Given the description of an element on the screen output the (x, y) to click on. 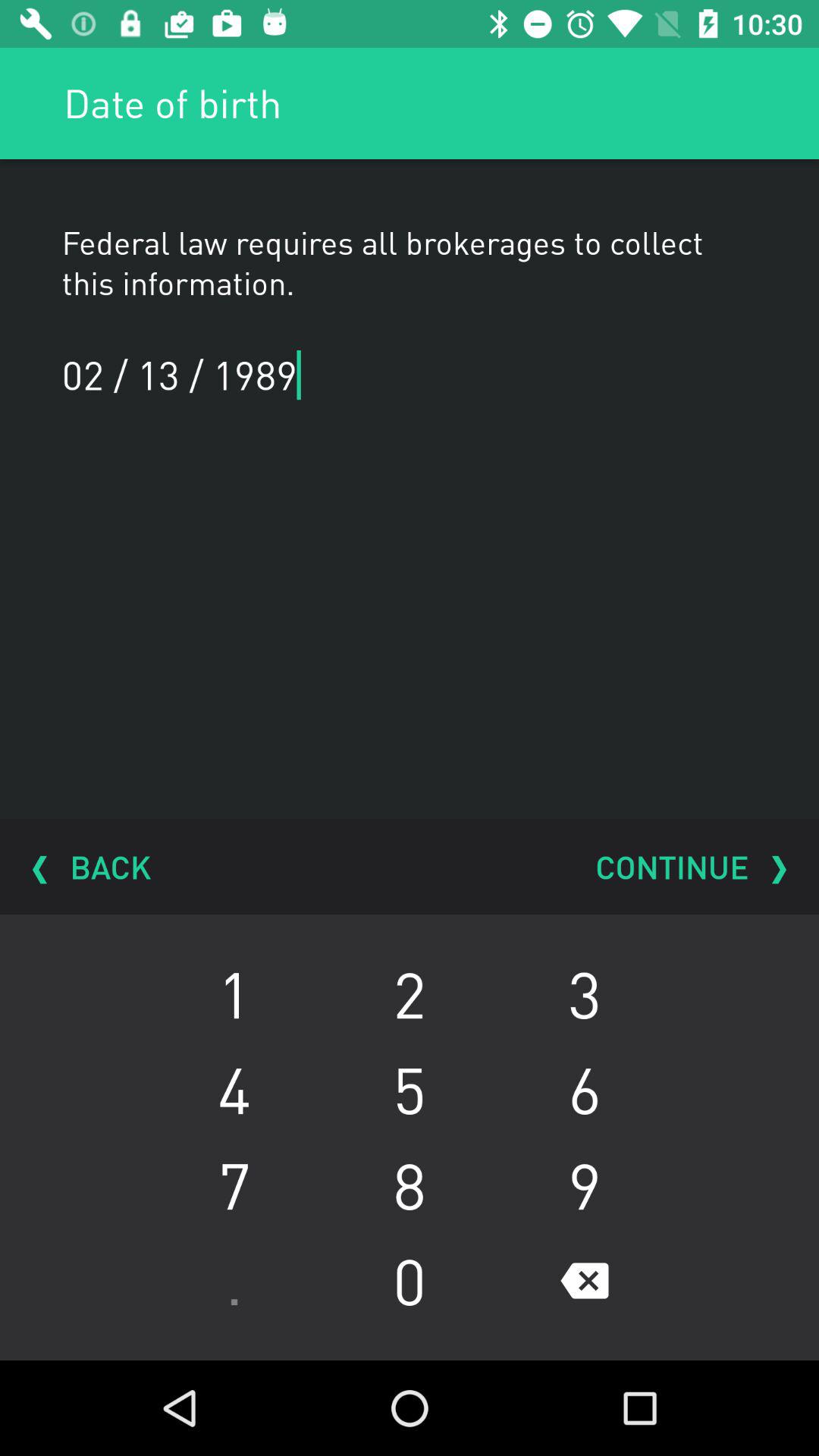
select 4 icon (233, 1089)
